Given the description of an element on the screen output the (x, y) to click on. 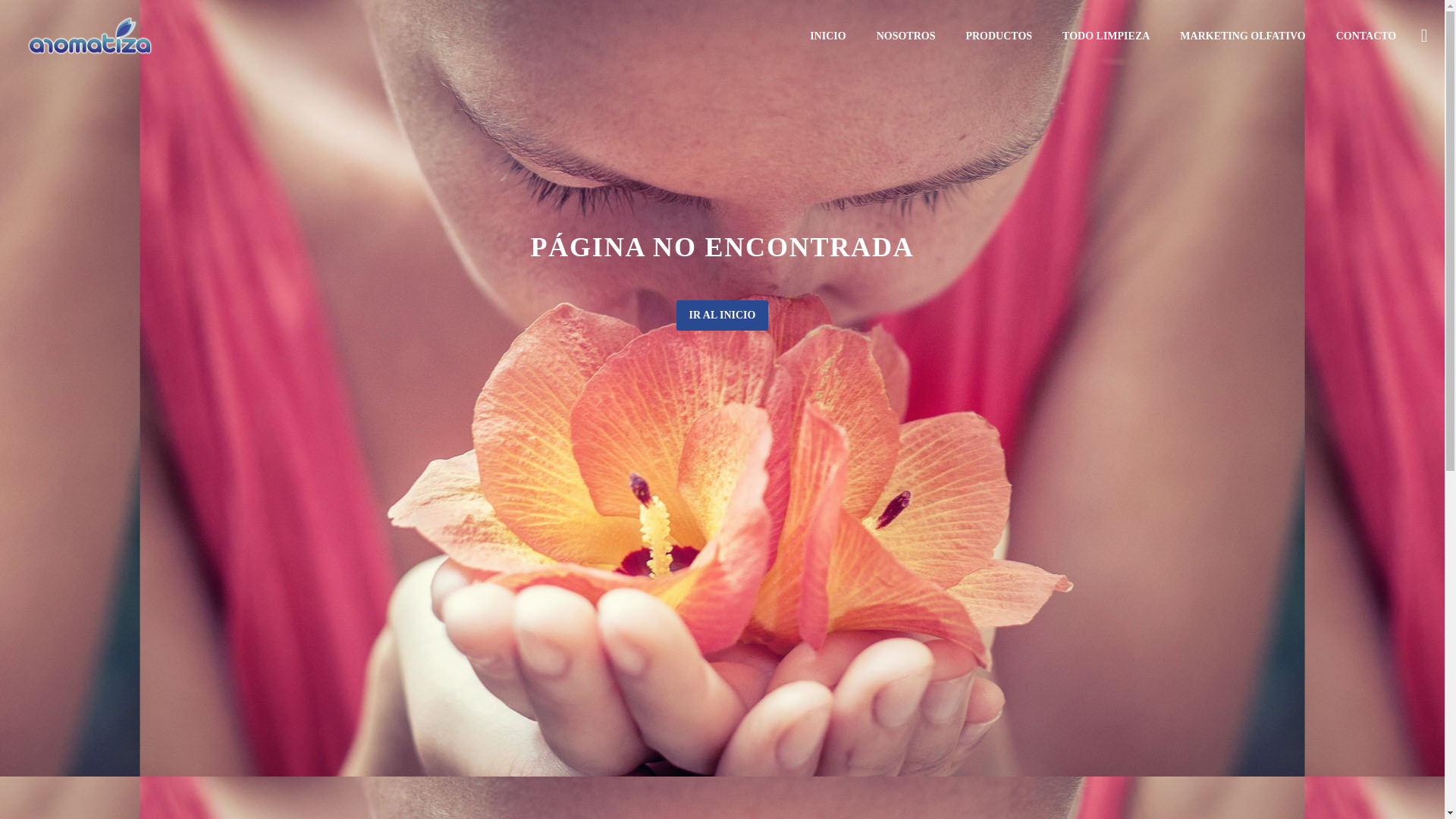
TODO LIMPIEZA (1105, 36)
IR AL INICIO (722, 315)
INICIO (827, 36)
MARKETING OLFATIVO (1242, 36)
PRODUCTOS (998, 36)
CONTACTO (1366, 36)
NOSOTROS (905, 36)
